Given the description of an element on the screen output the (x, y) to click on. 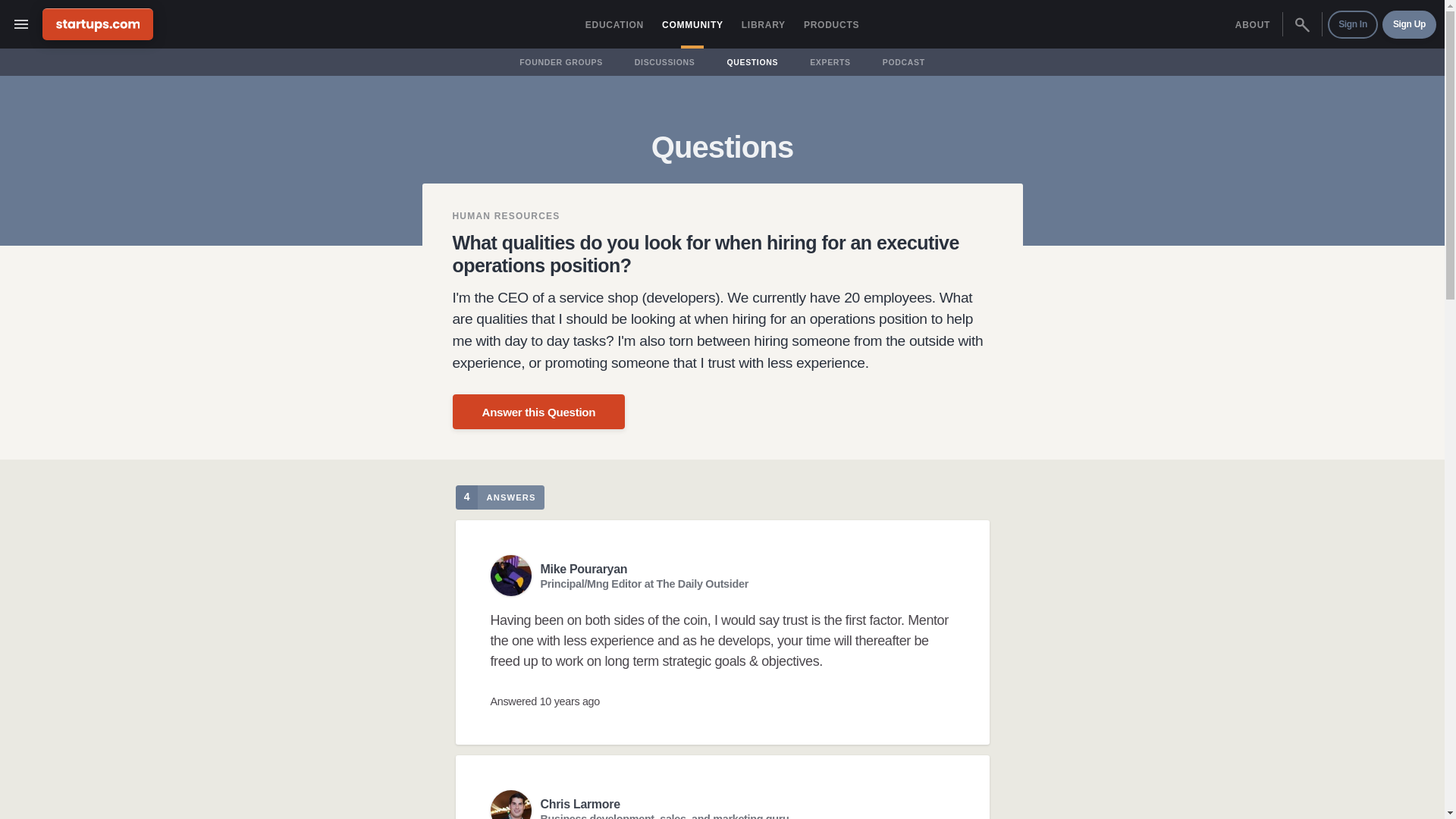
Photo of Chris Larmore (510, 804)
Photo of Mike Pouraryan (510, 575)
QUESTIONS (752, 62)
Sign In (1352, 24)
LIBRARY (763, 24)
FOUNDER GROUPS (561, 62)
COMMUNITY (692, 24)
EDUCATION (614, 24)
ABOUT (1252, 24)
PODCAST (904, 62)
